Given the description of an element on the screen output the (x, y) to click on. 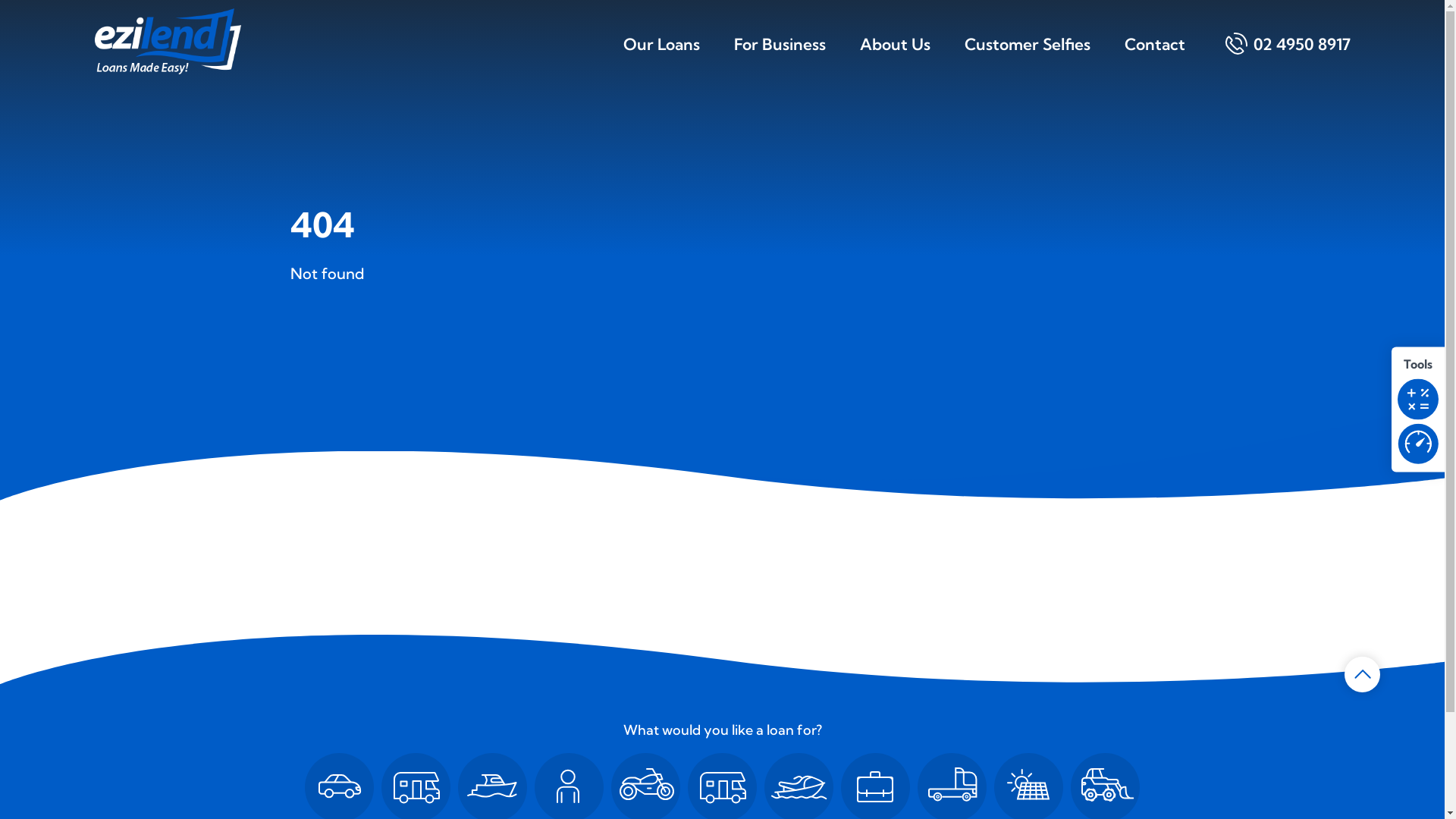
Contact Element type: text (1153, 55)
Ezilend Element type: hover (167, 41)
Our Loans Element type: text (661, 55)
About Us Element type: text (894, 55)
Customer Selfies Element type: text (1027, 55)
02 4950 8917 Element type: text (1293, 55)
For Business Element type: text (779, 55)
